Given the description of an element on the screen output the (x, y) to click on. 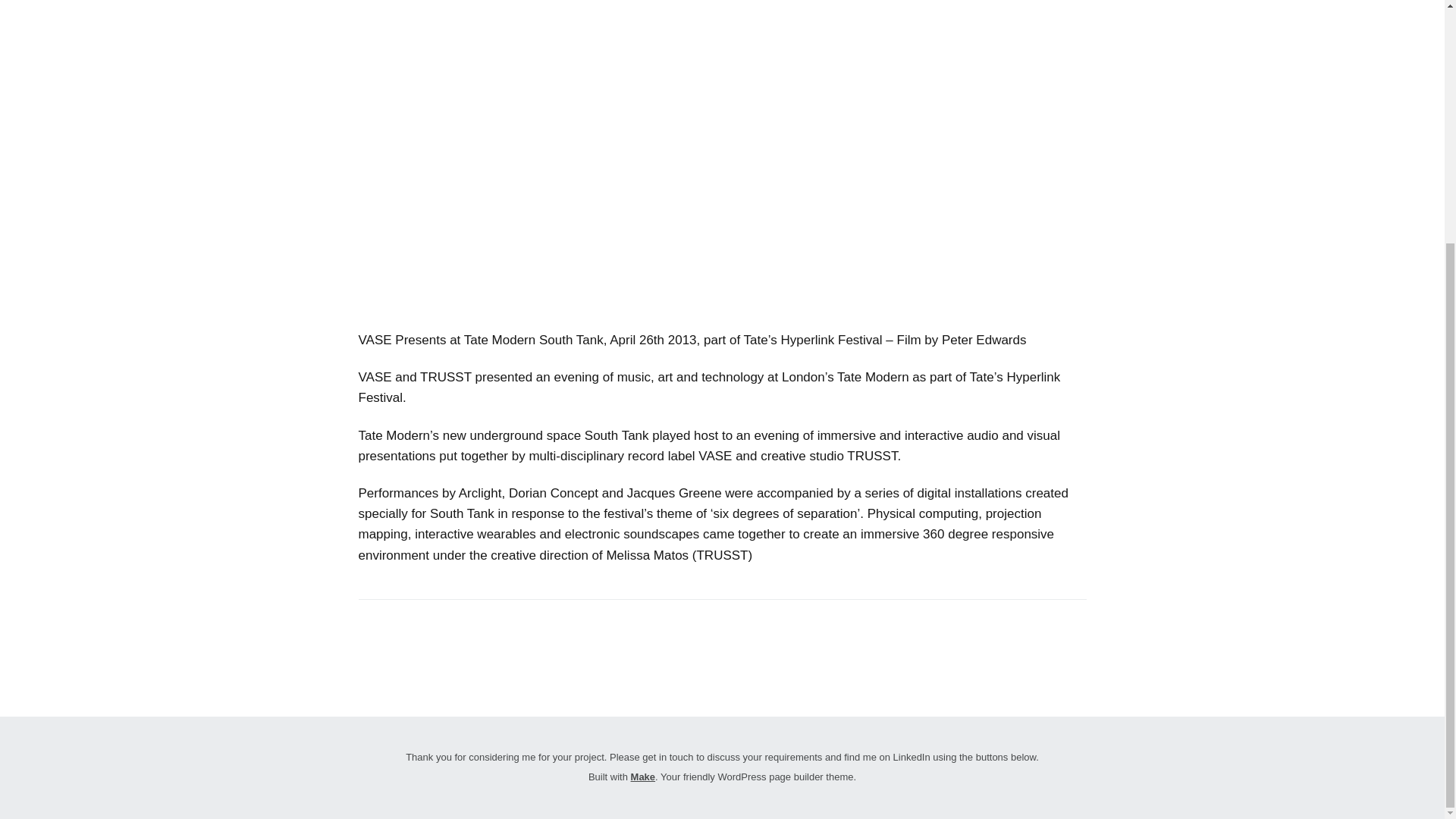
Make (643, 776)
